Given the description of an element on the screen output the (x, y) to click on. 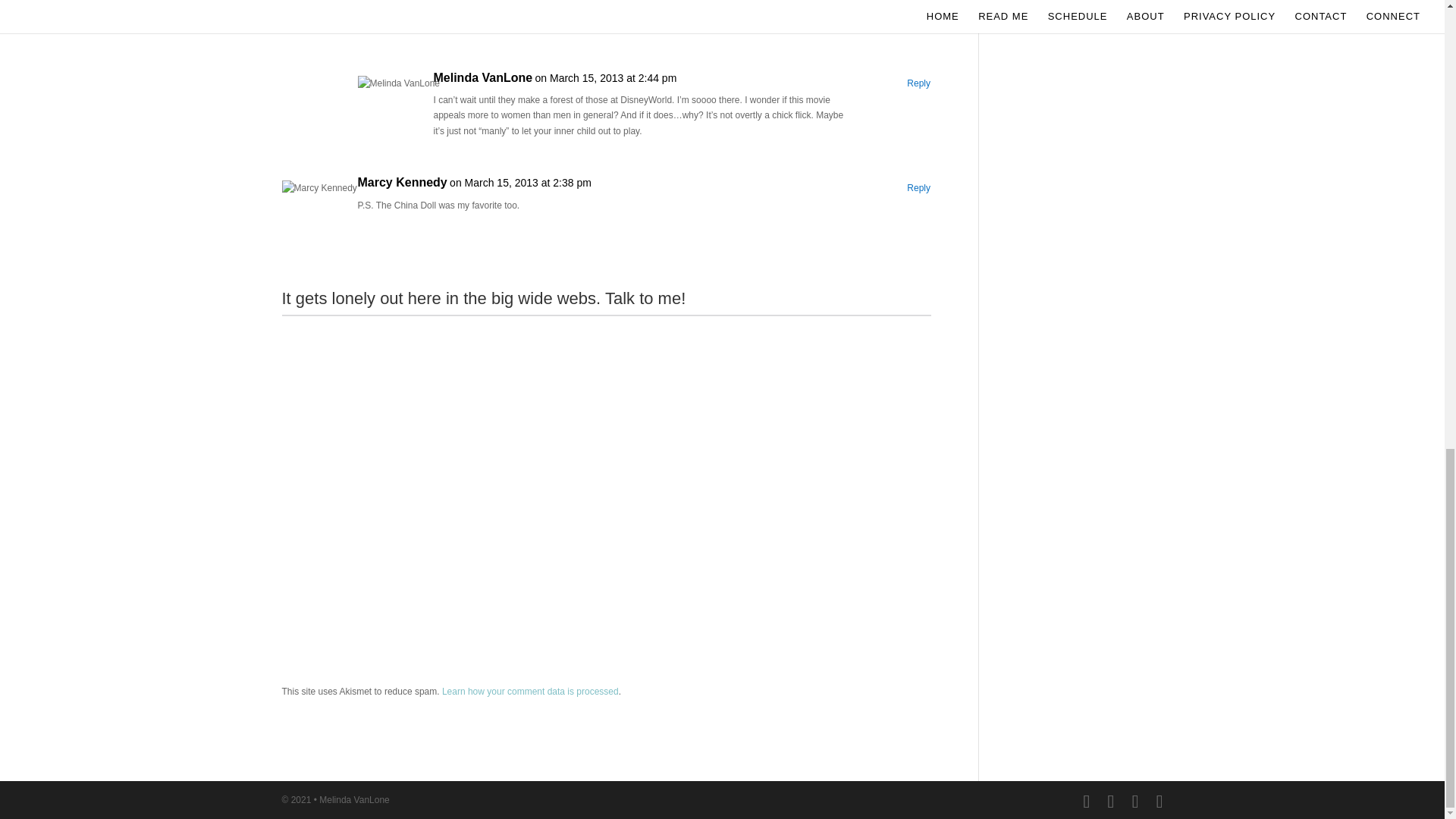
Marcy Kennedy (402, 182)
Reply (918, 187)
Learn how your comment data is processed (530, 691)
Reply (918, 83)
